Given the description of an element on the screen output the (x, y) to click on. 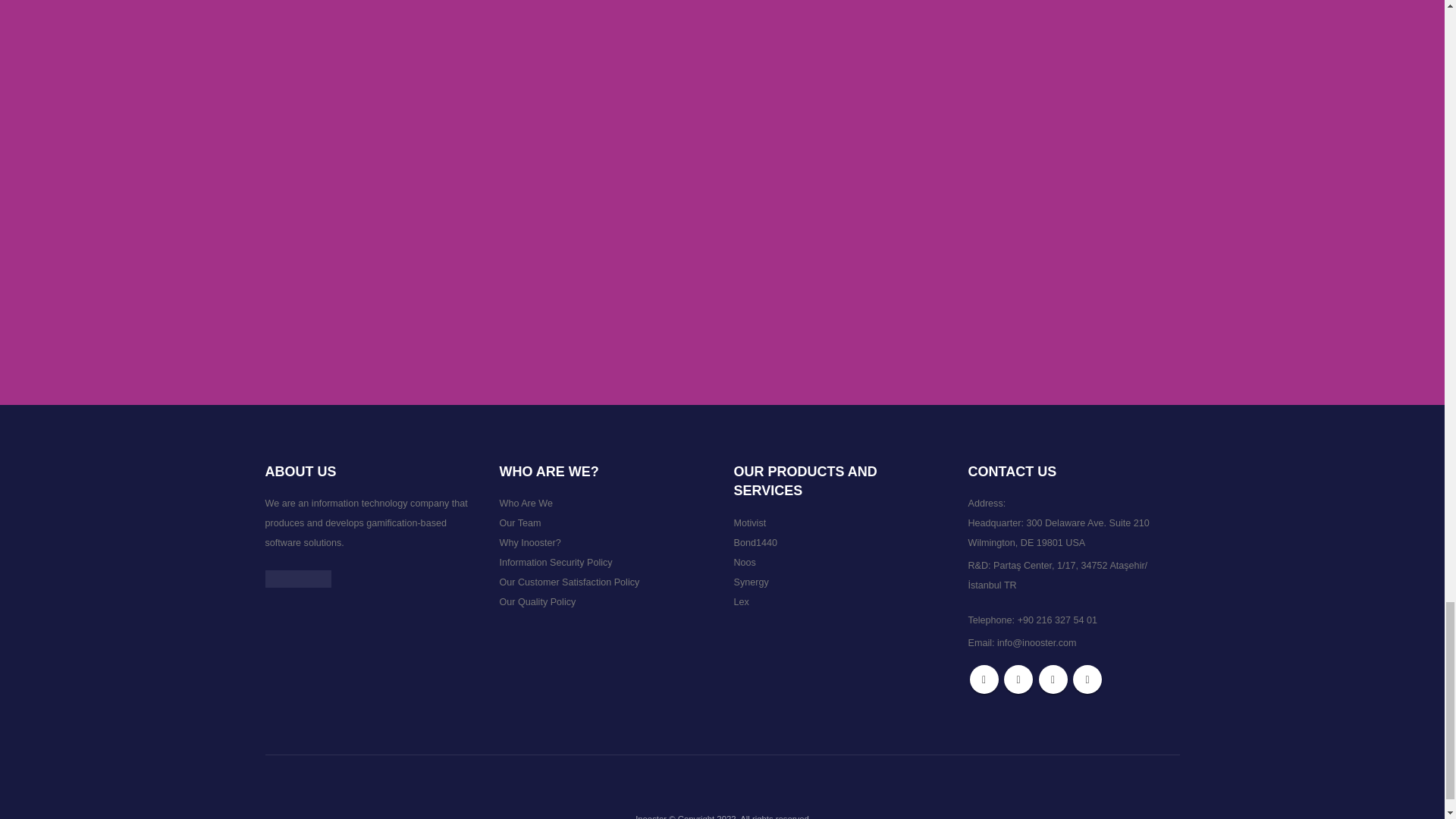
Linkedin (1087, 679)
Twitter (1018, 679)
Instagram (1053, 679)
Facebook (983, 679)
